Given the description of an element on the screen output the (x, y) to click on. 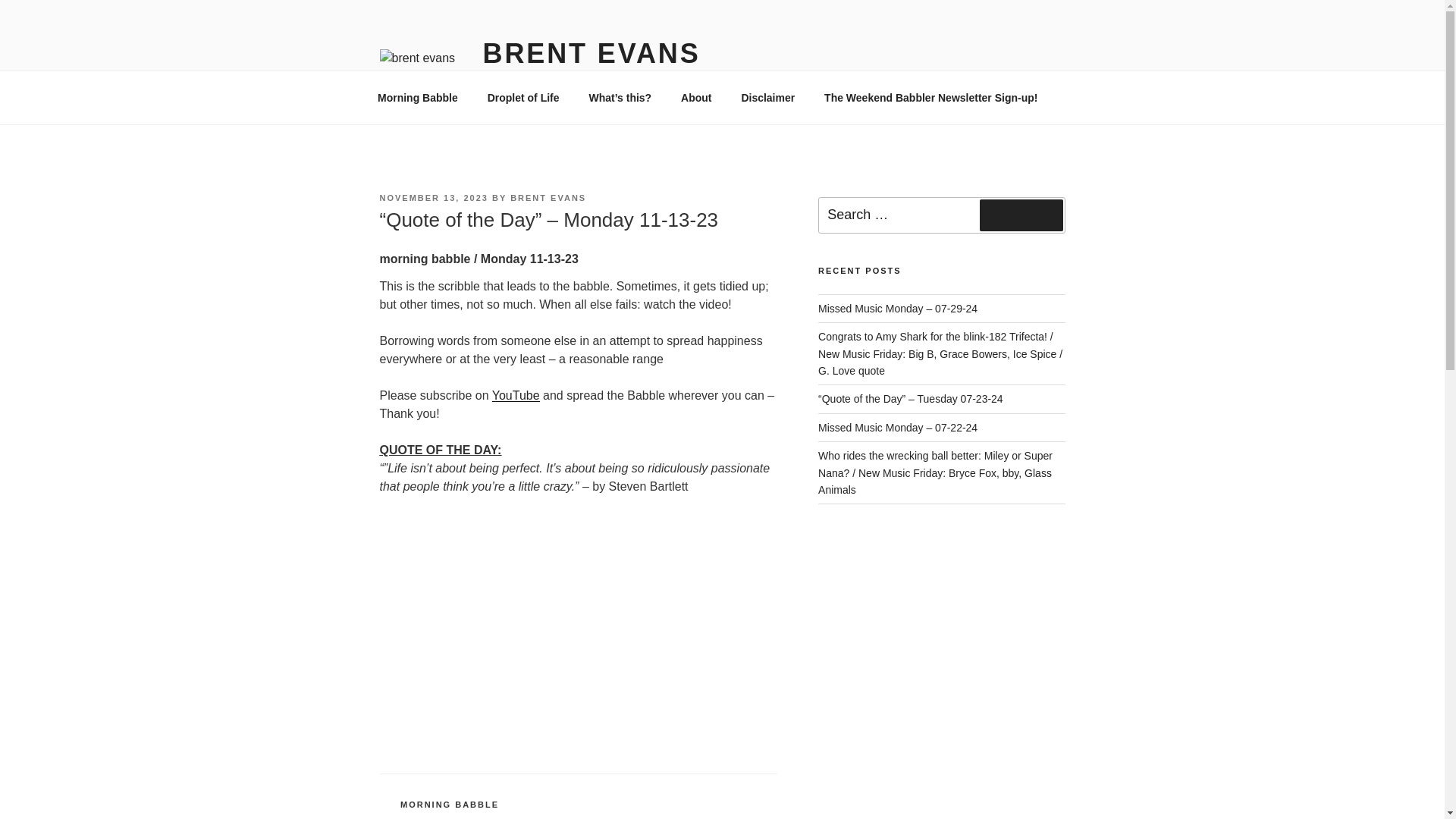
Morning Babble (417, 97)
Droplet of Life (523, 97)
Search (1020, 214)
YouTube (516, 395)
The Weekend Babbler Newsletter Sign-up! (930, 97)
NOVEMBER 13, 2023 (432, 197)
BRENT EVANS (548, 197)
About (696, 97)
Disclaimer (768, 97)
BRENT EVANS (591, 52)
MORNING BABBLE (449, 804)
